Given the description of an element on the screen output the (x, y) to click on. 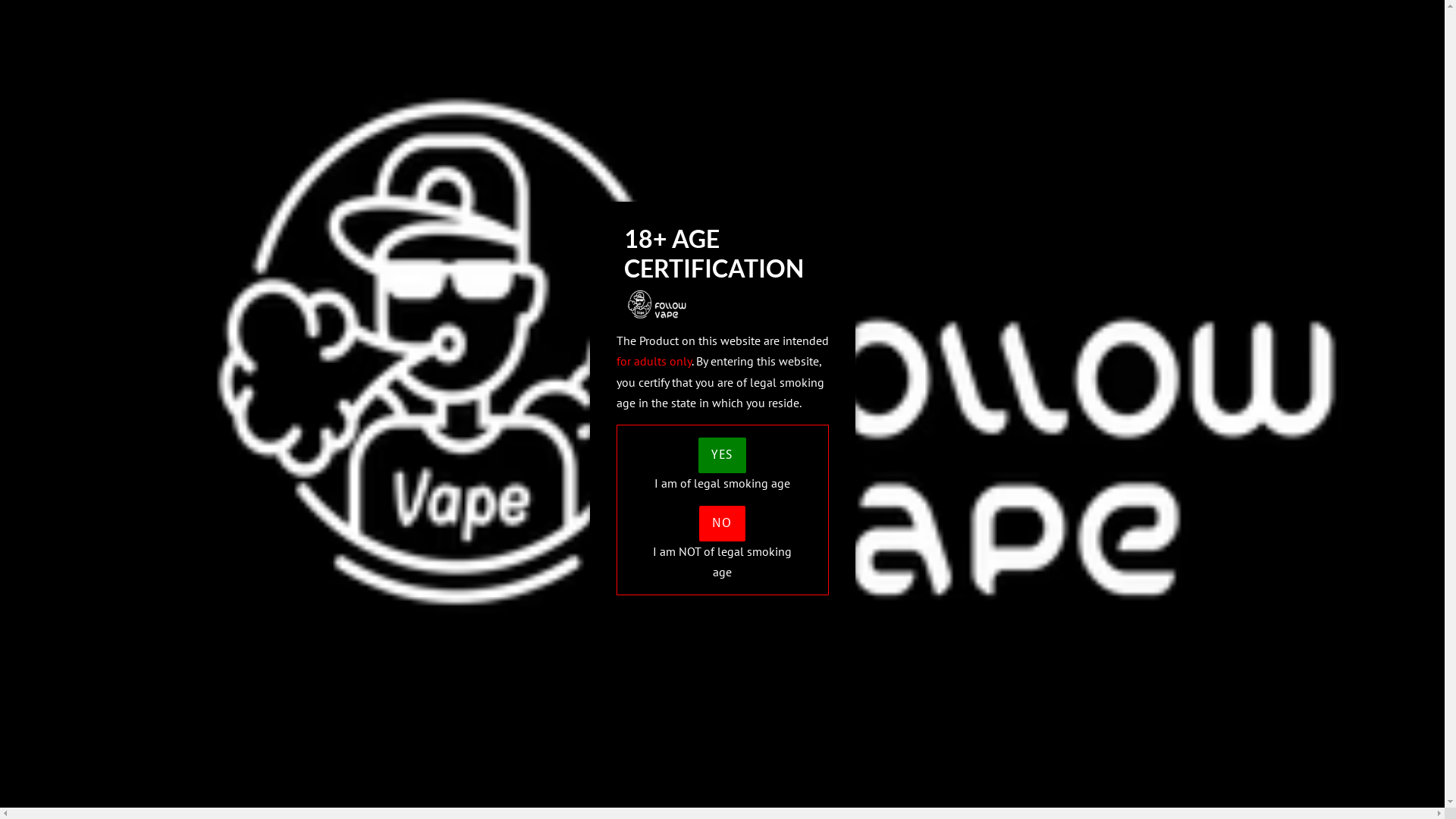
Log in Element type: text (899, 18)
Subscribe Element type: text (1031, 431)
Latest News Element type: text (524, 329)
Device Element type: text (257, 378)
Cart Element type: text (1063, 18)
Free Shipping over $60 !! Free Express Shipping over $100 Element type: text (383, 18)
Follow Vape Element type: text (724, 482)
Powered by Shopify Element type: text (802, 482)
here Element type: text (487, 229)
BATTERIES & CHARGERS Element type: text (986, 90)
E-Liquids Element type: text (264, 399)
HOME Element type: text (657, 90)
Home Element type: text (255, 359)
Instagram Element type: text (775, 363)
COMPANY INFO Element type: text (1149, 90)
E-LIQUIDS Element type: text (832, 90)
company info Element type: text (273, 439)
Create account Element type: text (975, 18)
YES Element type: text (722, 455)
DEVICE Element type: text (731, 90)
SEARCH Element type: text (1104, 18)
NO Element type: text (722, 523)
Facebook Element type: text (747, 363)
Batteries & Chargers Element type: text (290, 419)
